Given the description of an element on the screen output the (x, y) to click on. 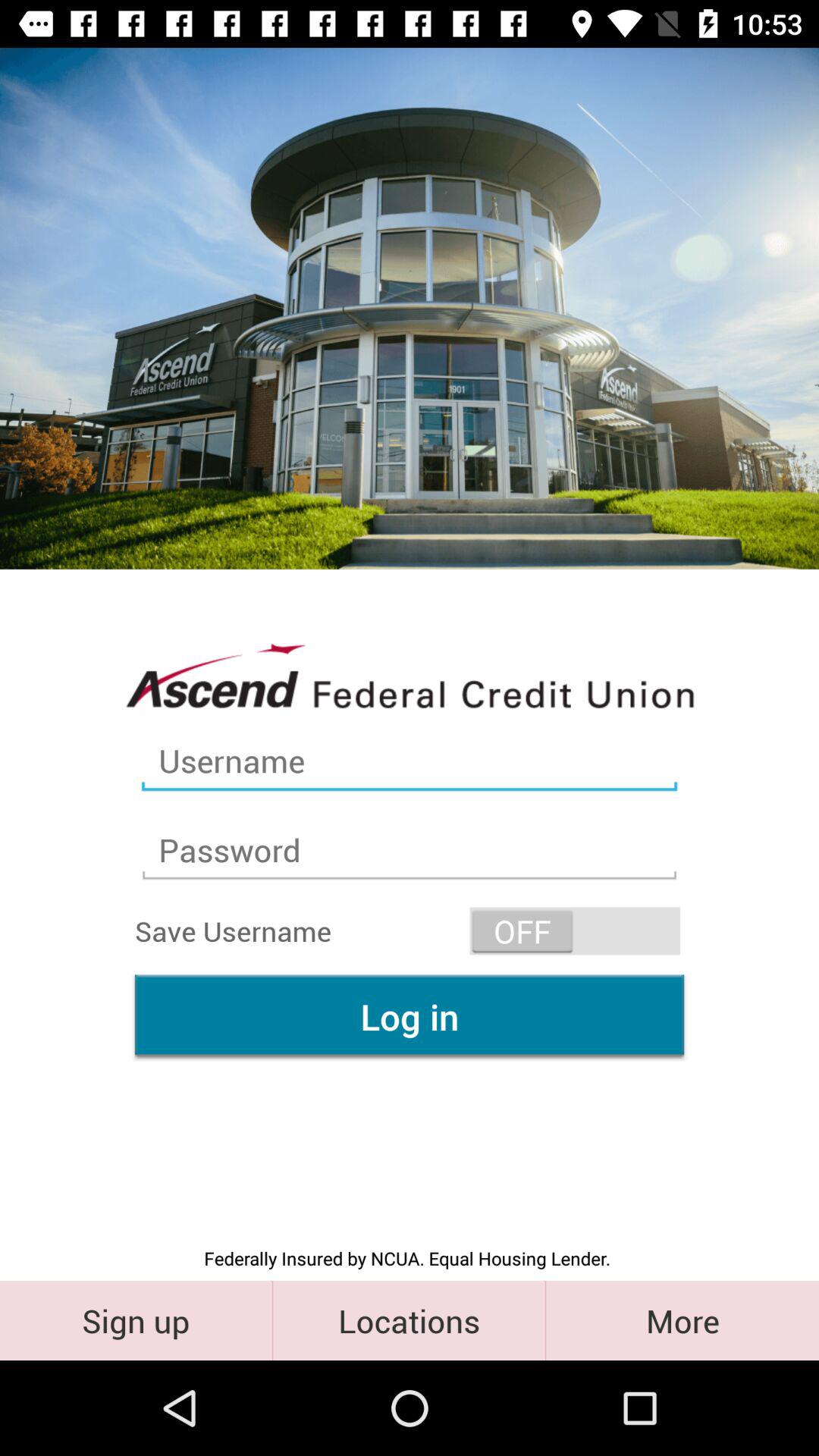
select the icon to the right of sign up icon (409, 1320)
